Given the description of an element on the screen output the (x, y) to click on. 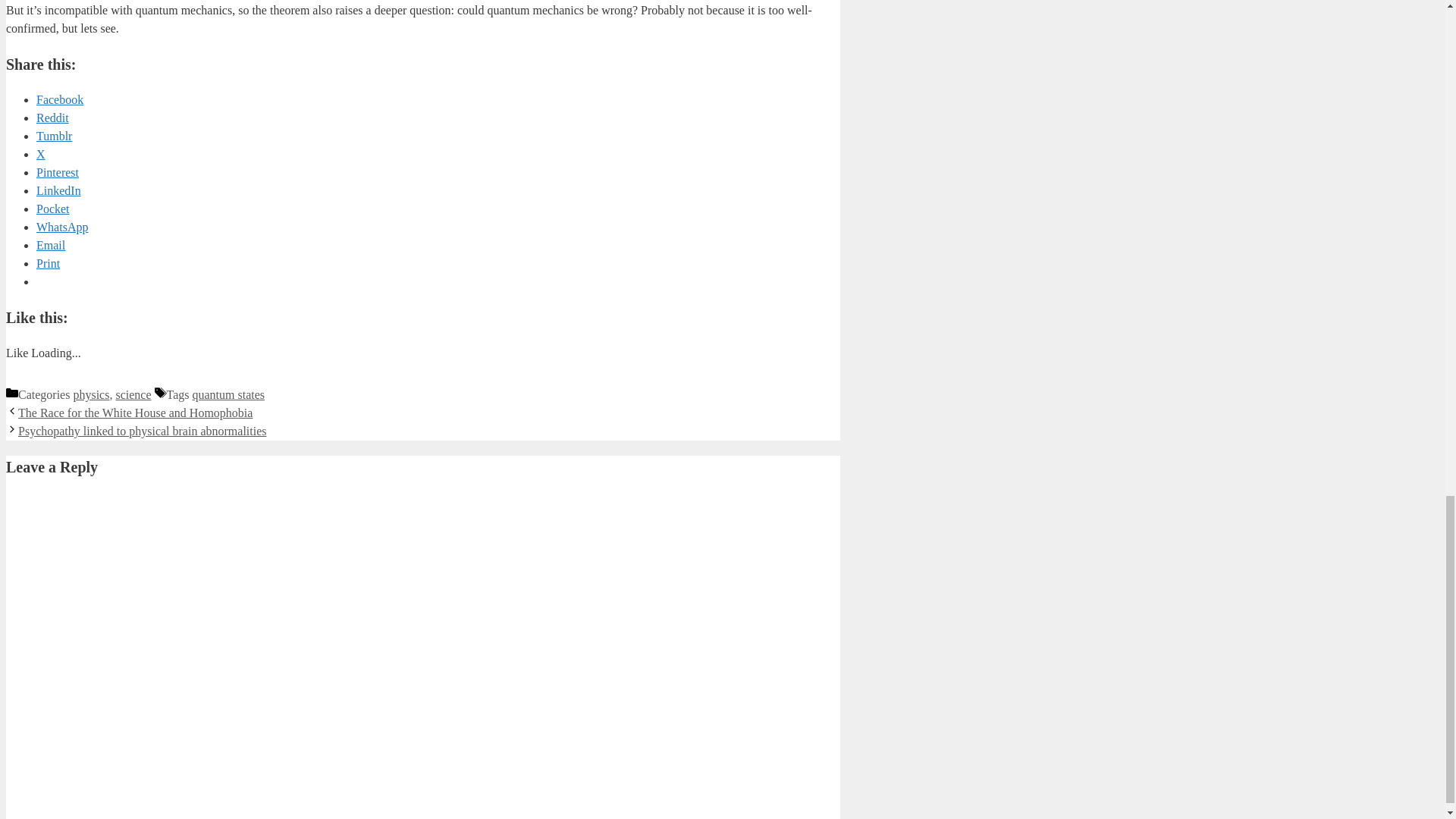
Click to share on Facebook (59, 99)
Reddit (52, 117)
Click to share on Reddit (52, 117)
Click to share on Pocket (52, 208)
Click to share on Pinterest (57, 172)
Click to email a link to a friend (50, 245)
Click to share on Tumblr (53, 135)
Click to print (47, 263)
Tumblr (53, 135)
Click to share on LinkedIn (58, 190)
